Given the description of an element on the screen output the (x, y) to click on. 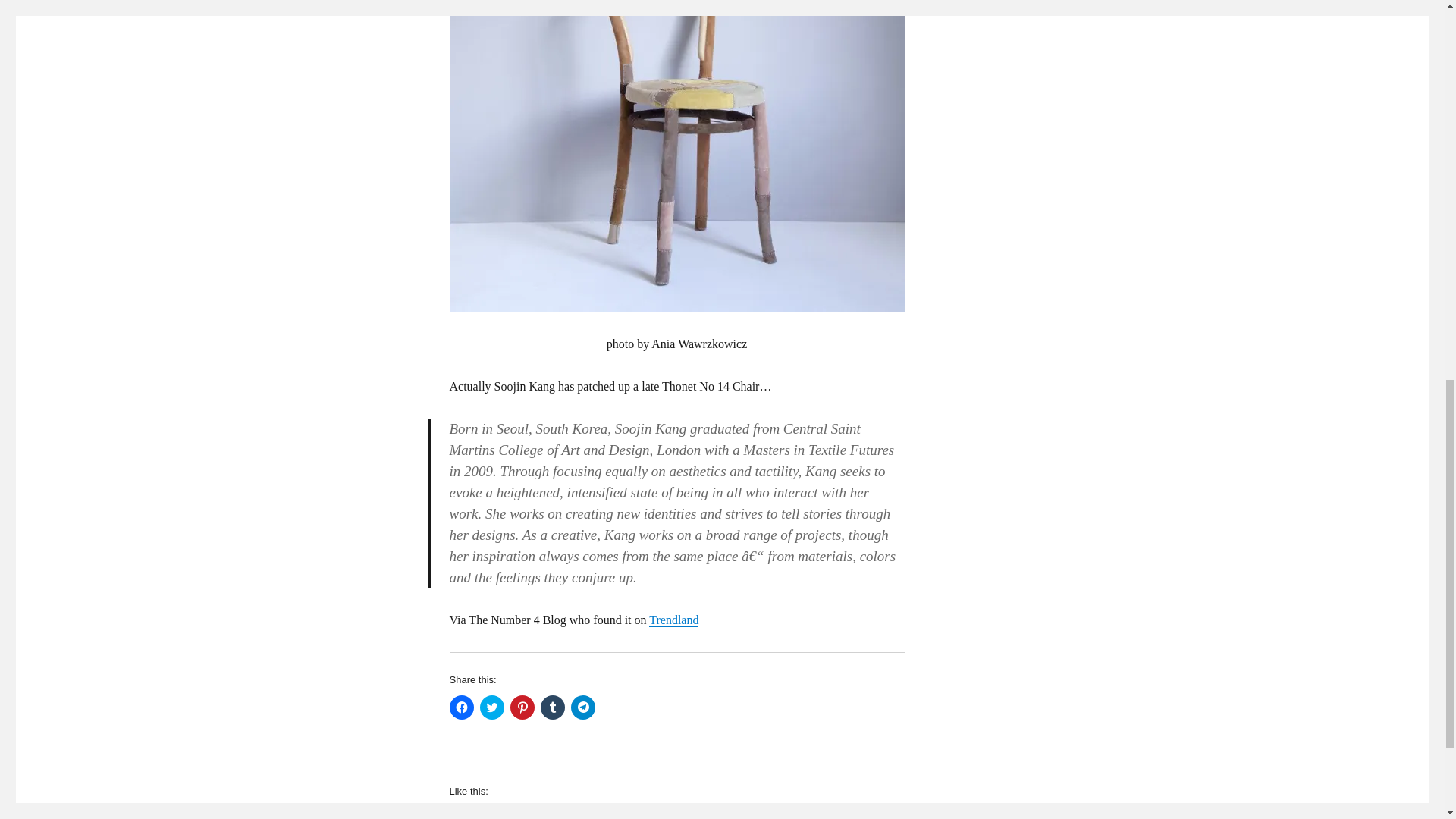
Click to share on Facebook (460, 707)
Trendland (673, 619)
Click to share on Tumblr (552, 707)
Click to share on Telegram (305, 9)
Click to share on Twitter (582, 707)
Click to share on Pinterest (491, 707)
